Given the description of an element on the screen output the (x, y) to click on. 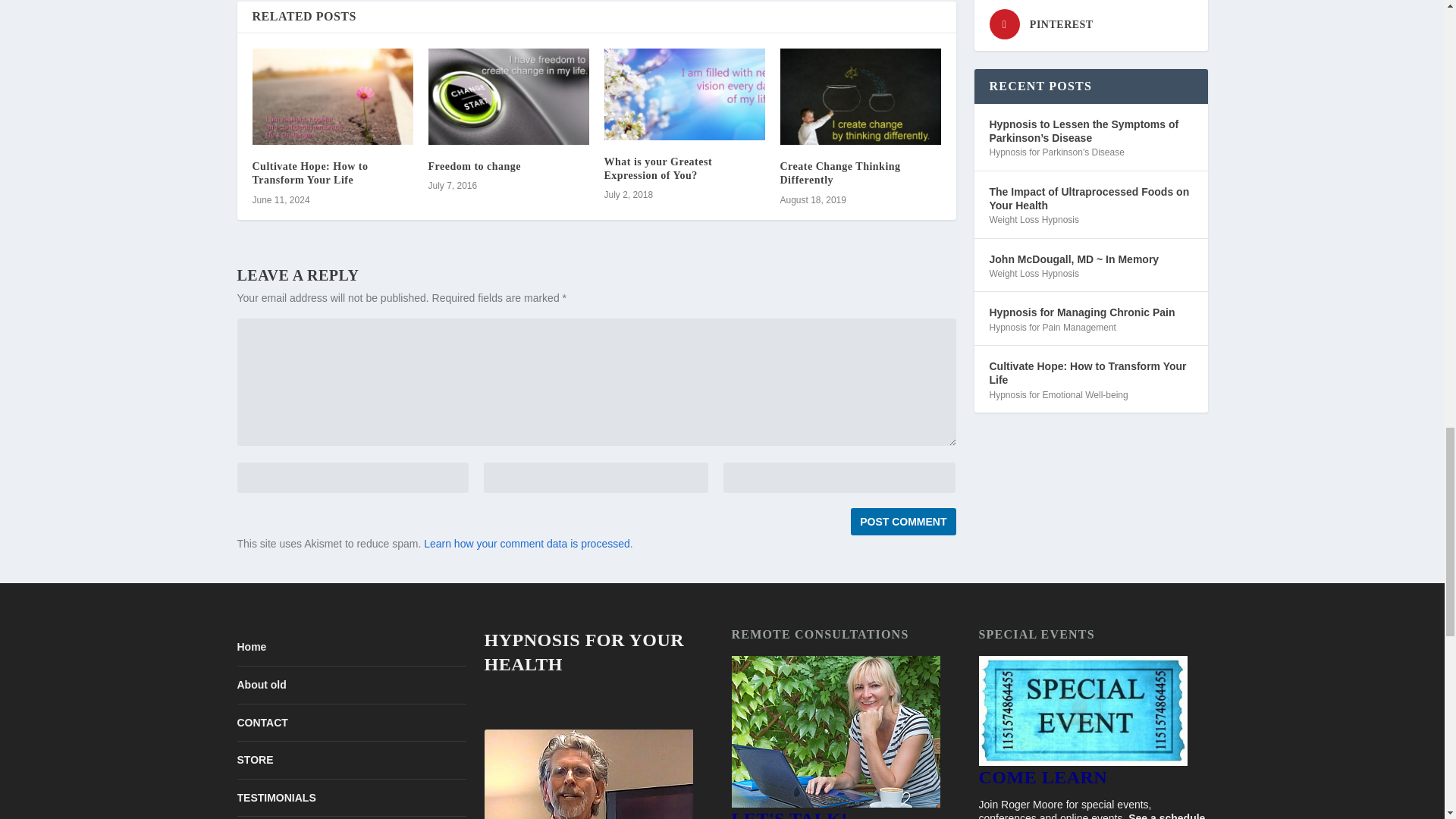
Post Comment (902, 521)
